Given the description of an element on the screen output the (x, y) to click on. 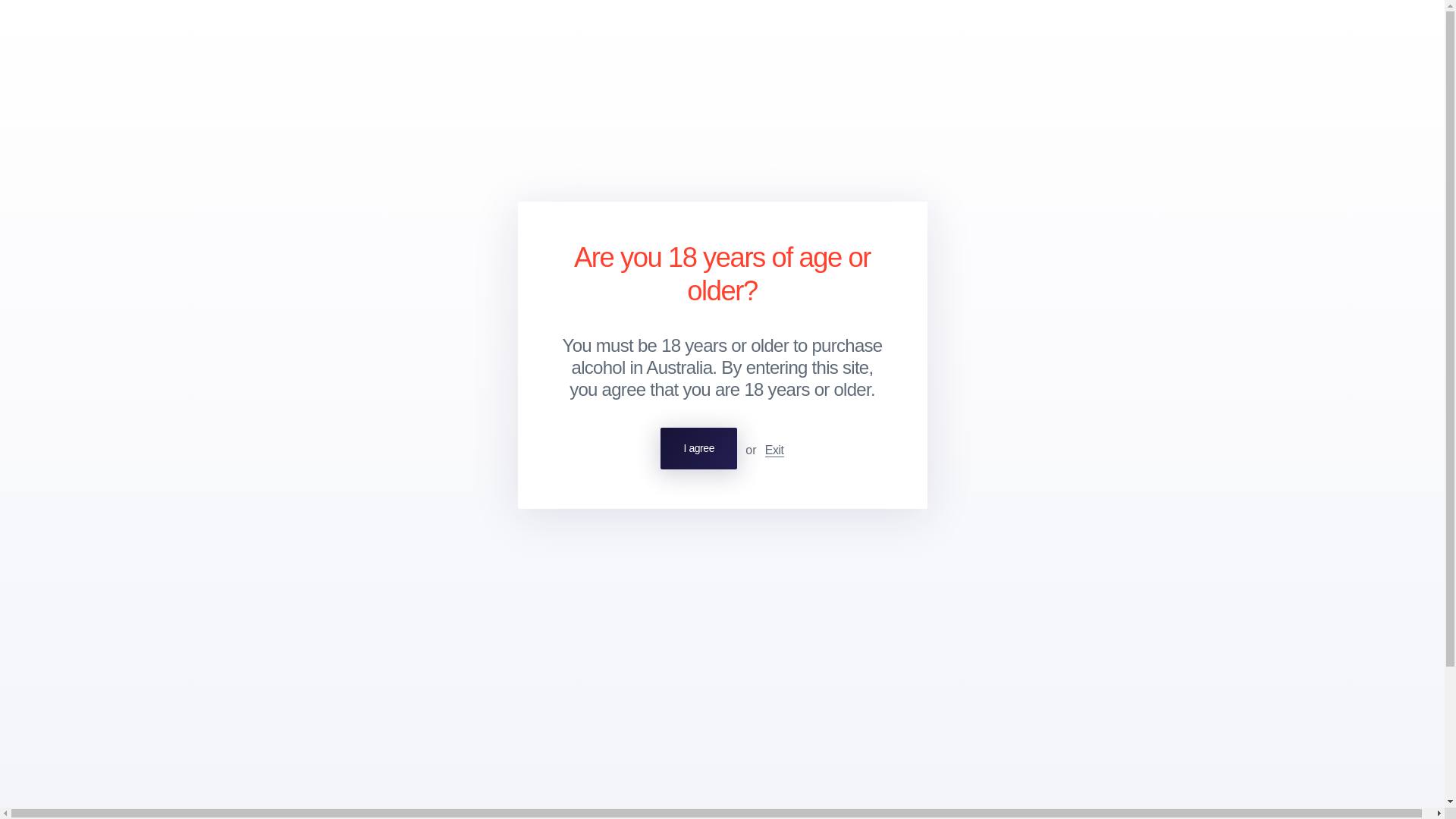
Search (1367, 33)
Producers (111, 32)
HOME (273, 111)
Wine details (289, 347)
1 (316, 529)
Exit (774, 450)
Home (273, 111)
CLOS BATEAU (291, 264)
Tasting notes (1394, 32)
I agree (369, 347)
- (698, 448)
Wholesale (274, 529)
About (177, 32)
Clos Bateau (232, 32)
